Given the description of an element on the screen output the (x, y) to click on. 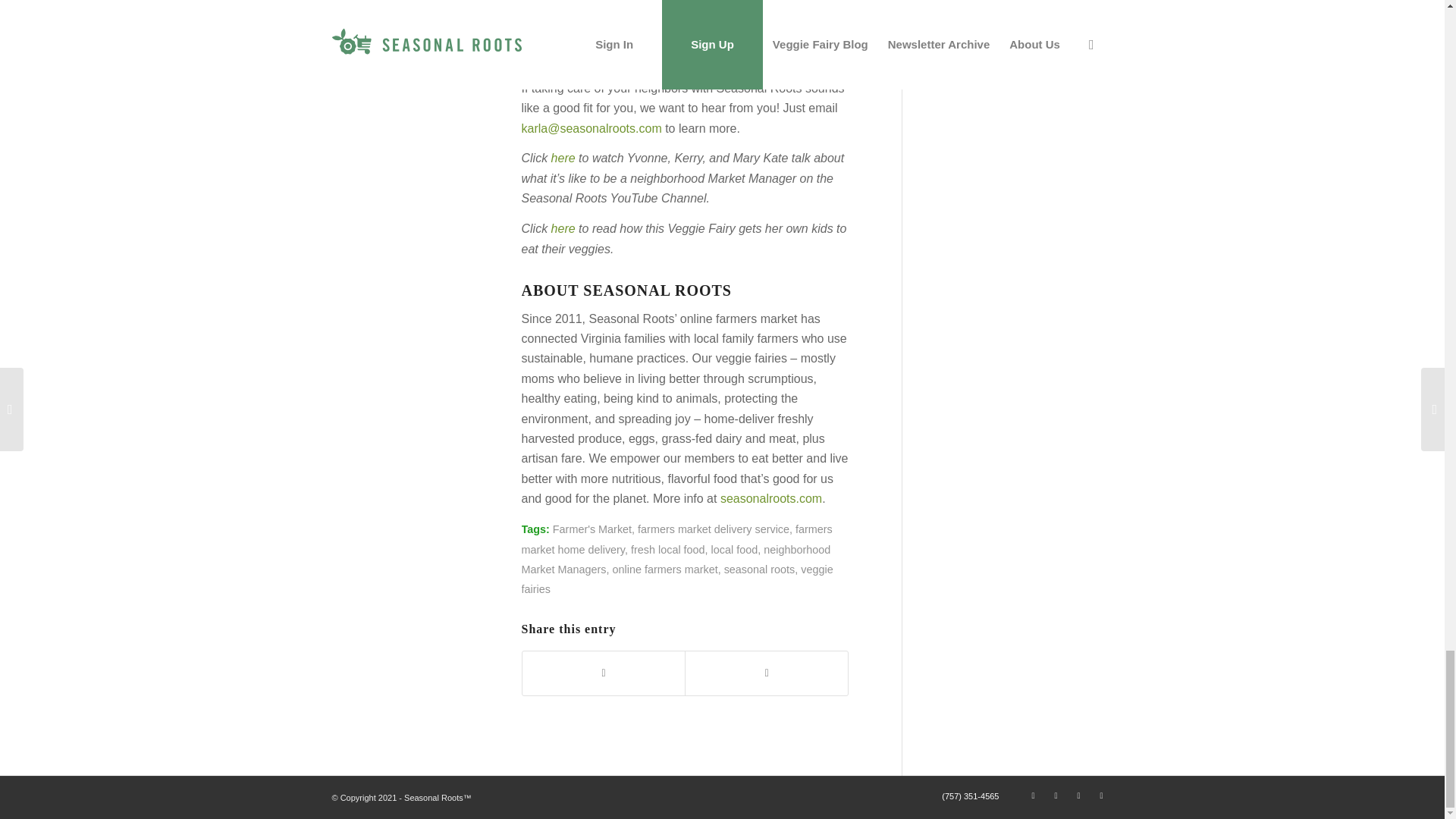
neighborhood Market Managers (676, 559)
Instagram (1056, 794)
local food (734, 549)
farmers market home delivery (676, 539)
online farmers market (664, 569)
farmers market delivery service (713, 529)
seasonal roots (758, 569)
Twitter (1078, 794)
veggie fairies (676, 579)
here (563, 157)
Facebook (1101, 794)
Pinterest (1033, 794)
Farmer's Market (592, 529)
seasonalroots.com (771, 498)
here (563, 228)
